Given the description of an element on the screen output the (x, y) to click on. 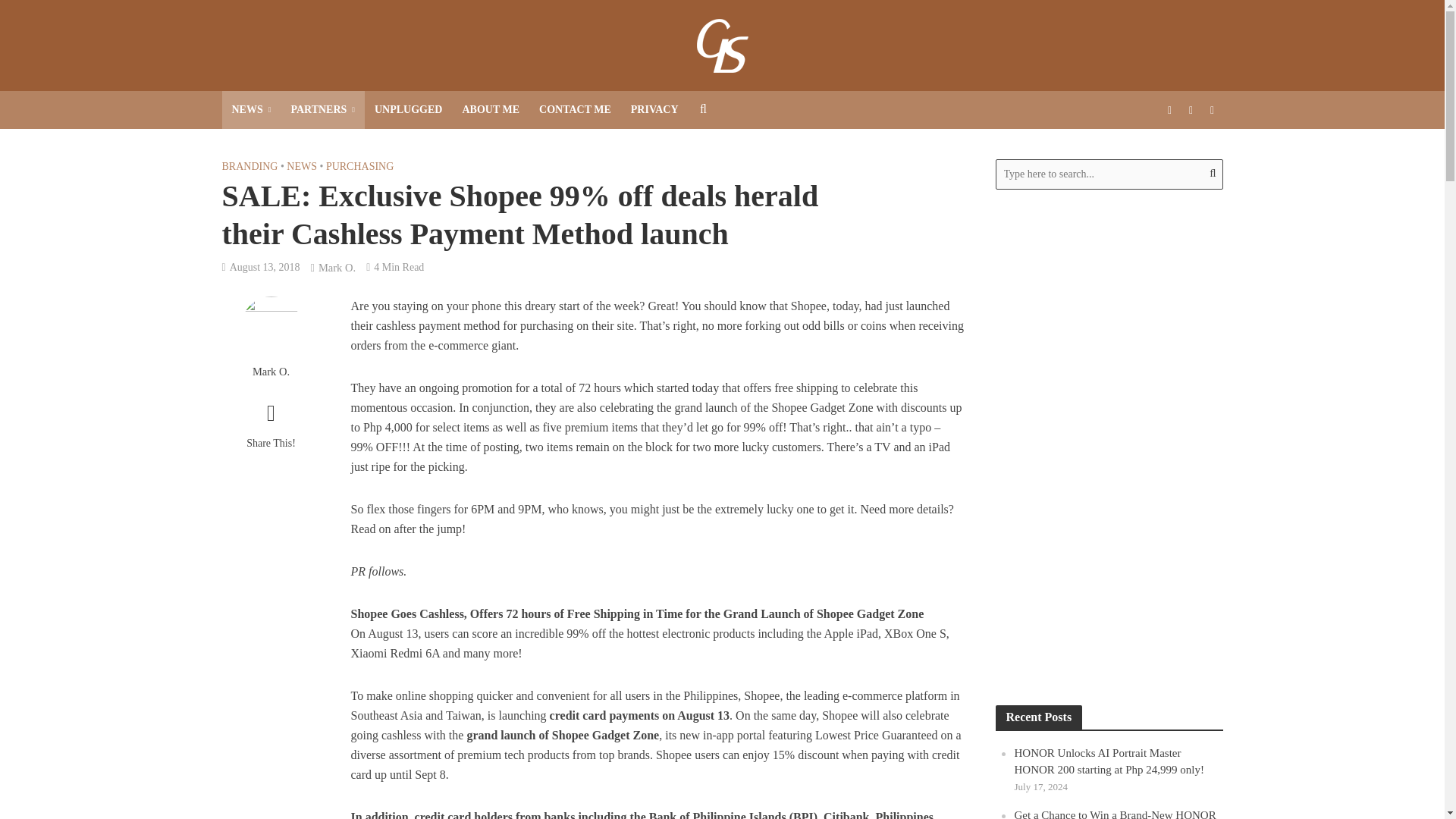
BRANDING (249, 167)
PARTNERS (323, 109)
ABOUT ME (490, 109)
Mark O. (270, 371)
CONTACT ME (575, 109)
PURCHASING (359, 167)
PRIVACY (654, 109)
UNPLUGGED (408, 109)
Mark O. (336, 268)
NEWS (251, 109)
NEWS (301, 167)
